Given the description of an element on the screen output the (x, y) to click on. 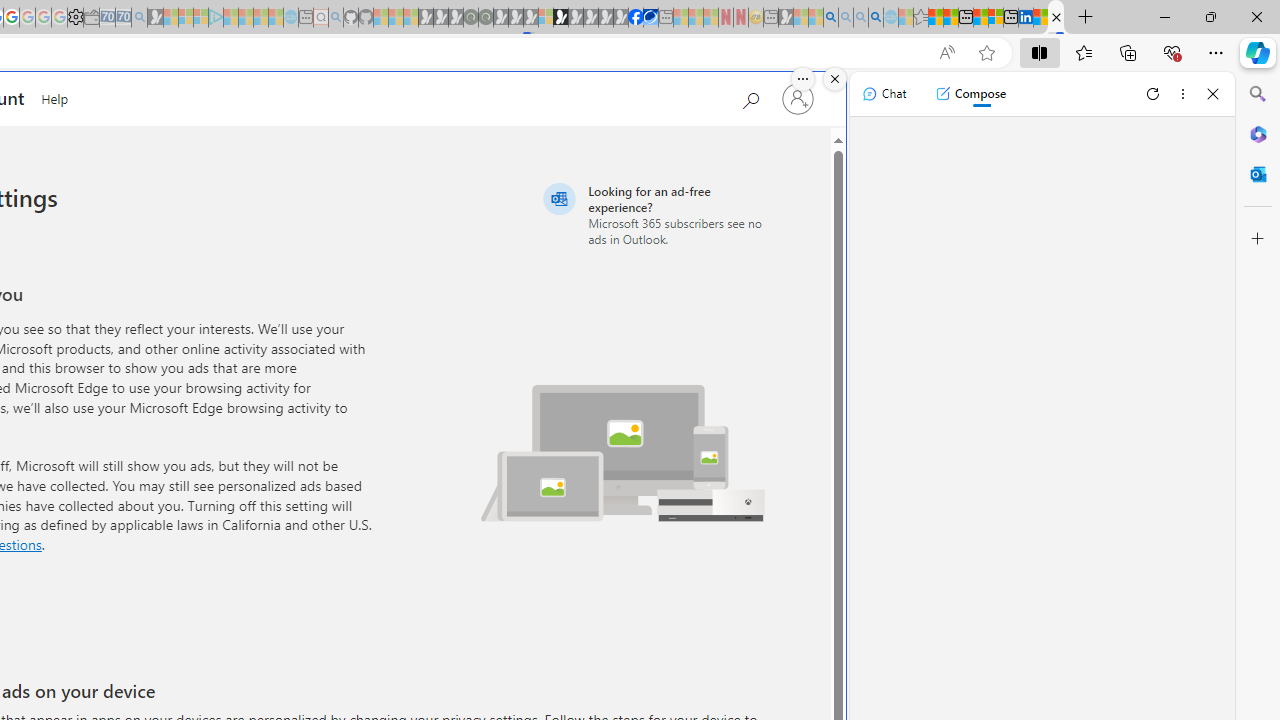
Chat (884, 93)
